Given the description of an element on the screen output the (x, y) to click on. 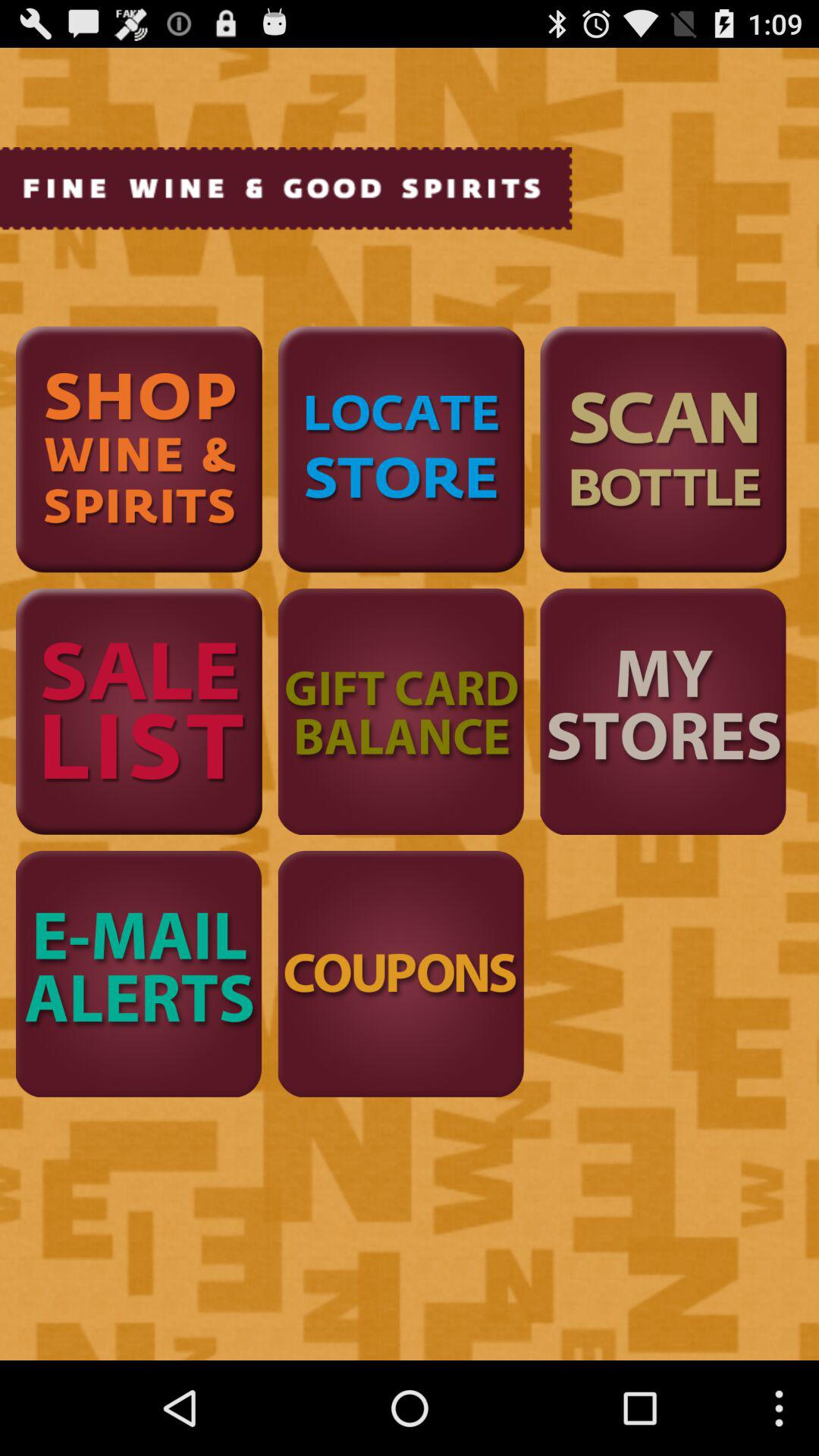
go to shop wine and spirits (138, 449)
